Given the description of an element on the screen output the (x, y) to click on. 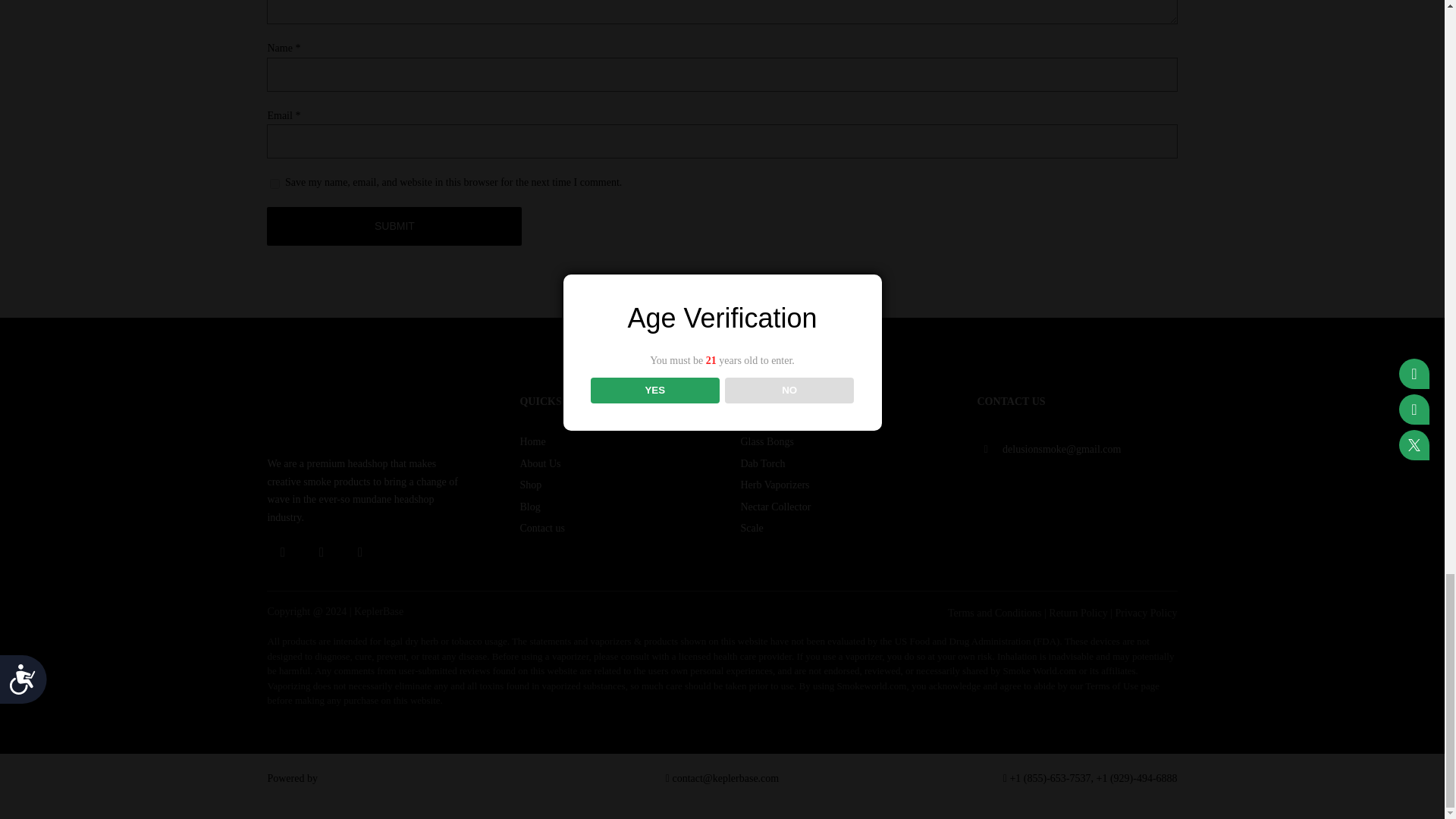
yes (274, 184)
Submit (393, 226)
